Given the description of an element on the screen output the (x, y) to click on. 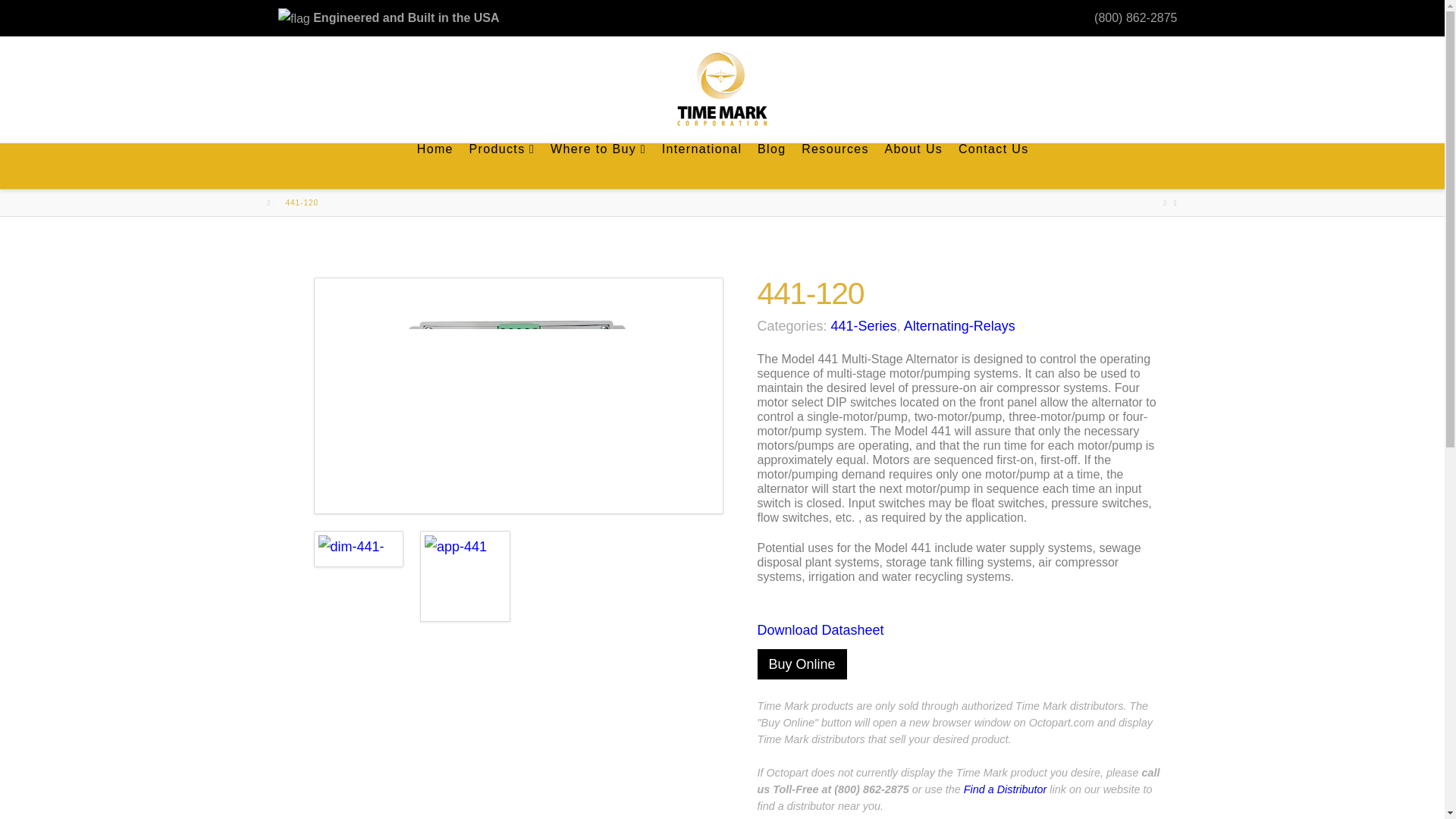
441-Multi-Stage-Alternator (518, 395)
Where to Buy (597, 166)
Products (500, 166)
441-Multi-Stage-Alternator (517, 395)
Contact Us (992, 166)
Blog (771, 166)
TimeMark Blog (722, 88)
Resources (834, 166)
Home (435, 166)
app-441 (465, 575)
International (701, 166)
dim-441-442 (359, 548)
Contact Us (992, 166)
About Us (913, 166)
